Given the description of an element on the screen output the (x, y) to click on. 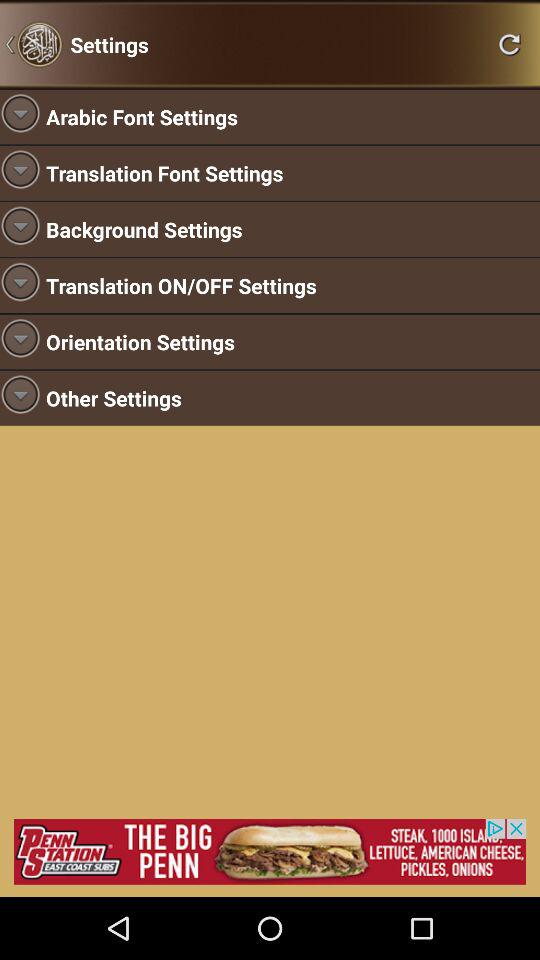
go to the advertisement (270, 851)
